Given the description of an element on the screen output the (x, y) to click on. 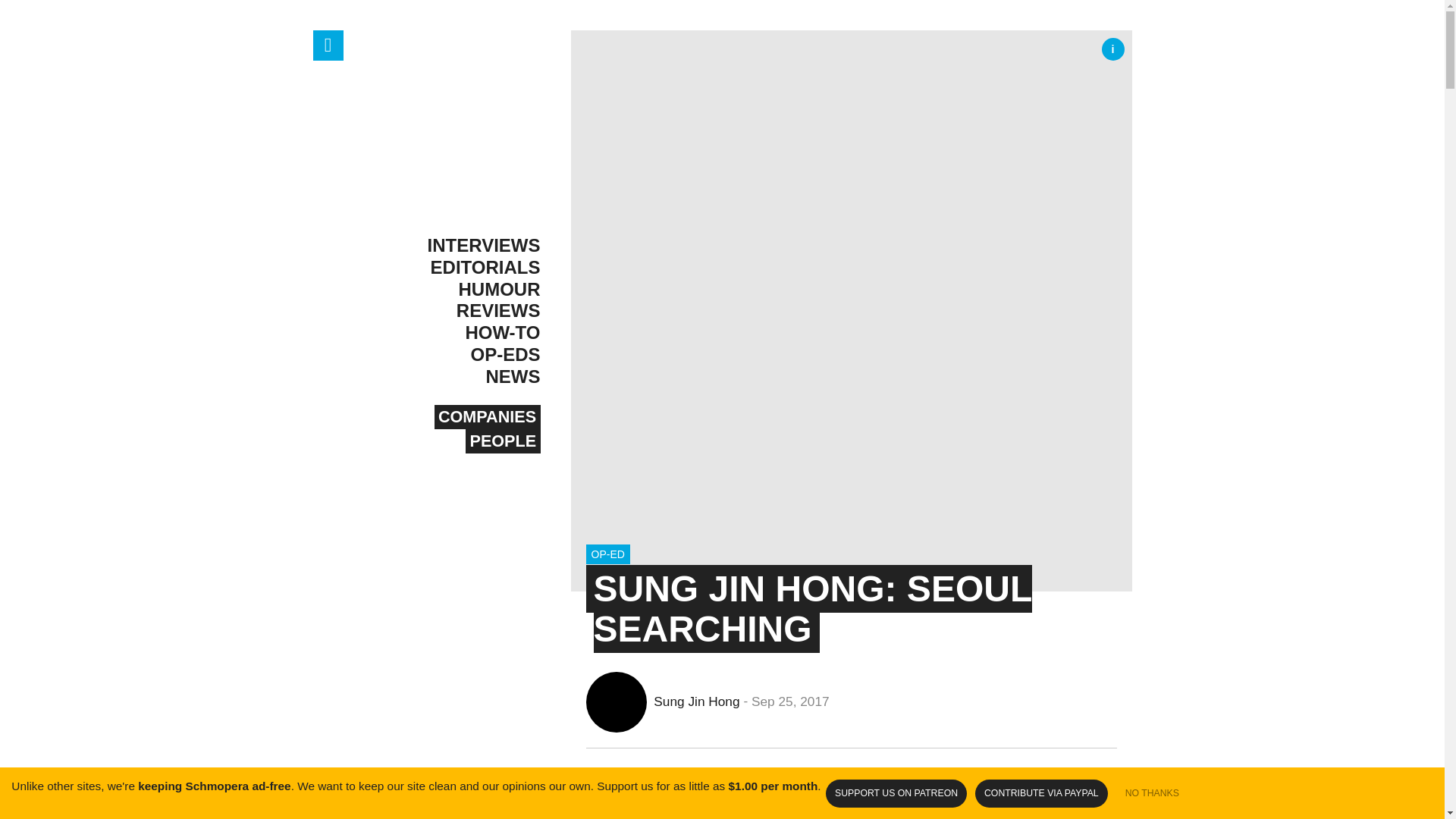
OP-EDS (445, 354)
EDITORIALS (445, 268)
NEWS (445, 377)
Back to home page (445, 125)
Sung Jin Hong (658, 700)
HOW-TO (445, 332)
REVIEWS (445, 311)
COMPANIES (486, 416)
Primary Navigation (327, 45)
INTERVIEWS (445, 246)
PEOPLE (502, 441)
Sung Jin Hong: Seoul searching (812, 608)
HUMOUR (445, 290)
